Given the description of an element on the screen output the (x, y) to click on. 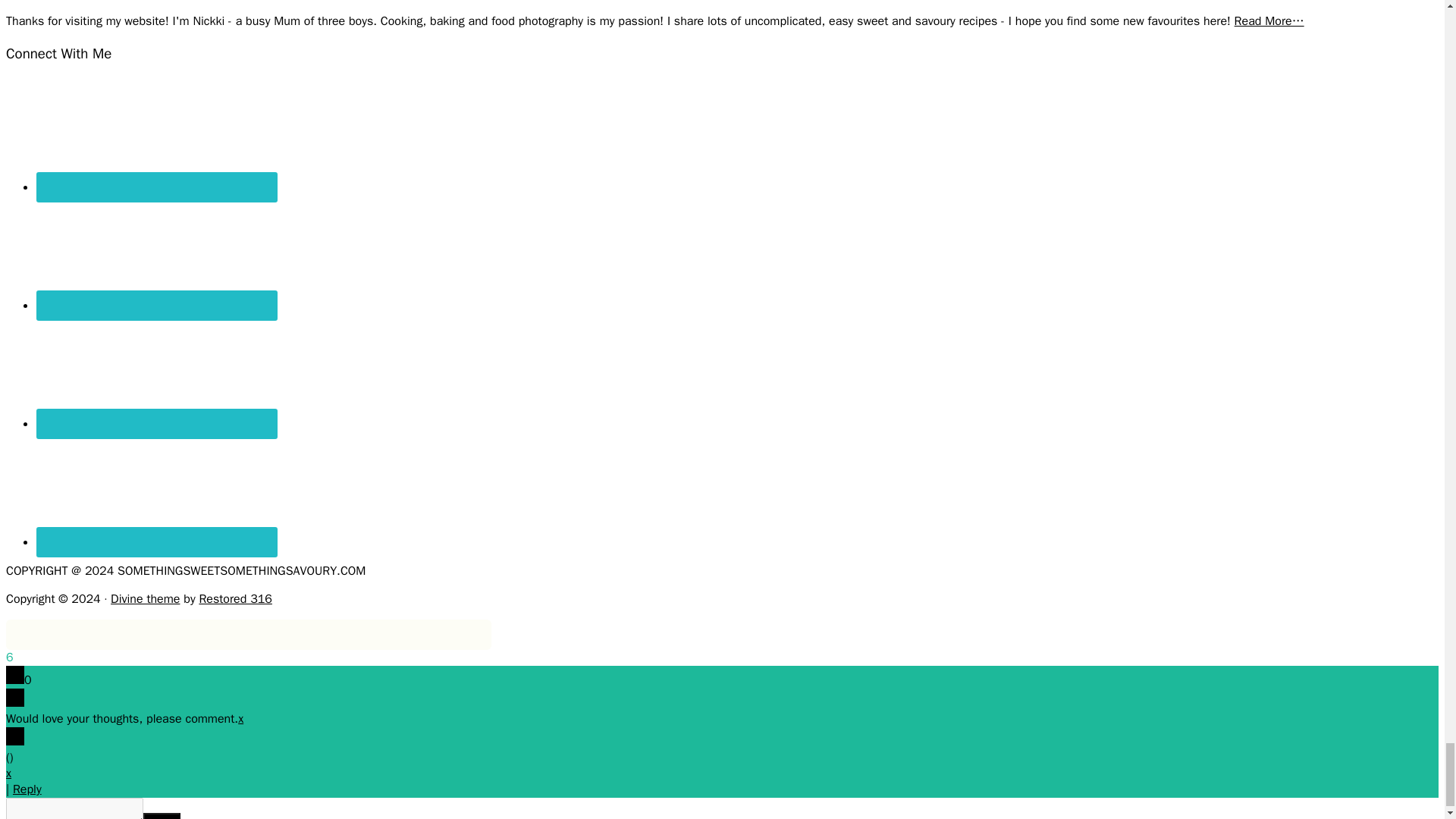
Pinterest (156, 371)
Facebook (156, 134)
Instagram (156, 253)
Twitter (156, 490)
